Given the description of an element on the screen output the (x, y) to click on. 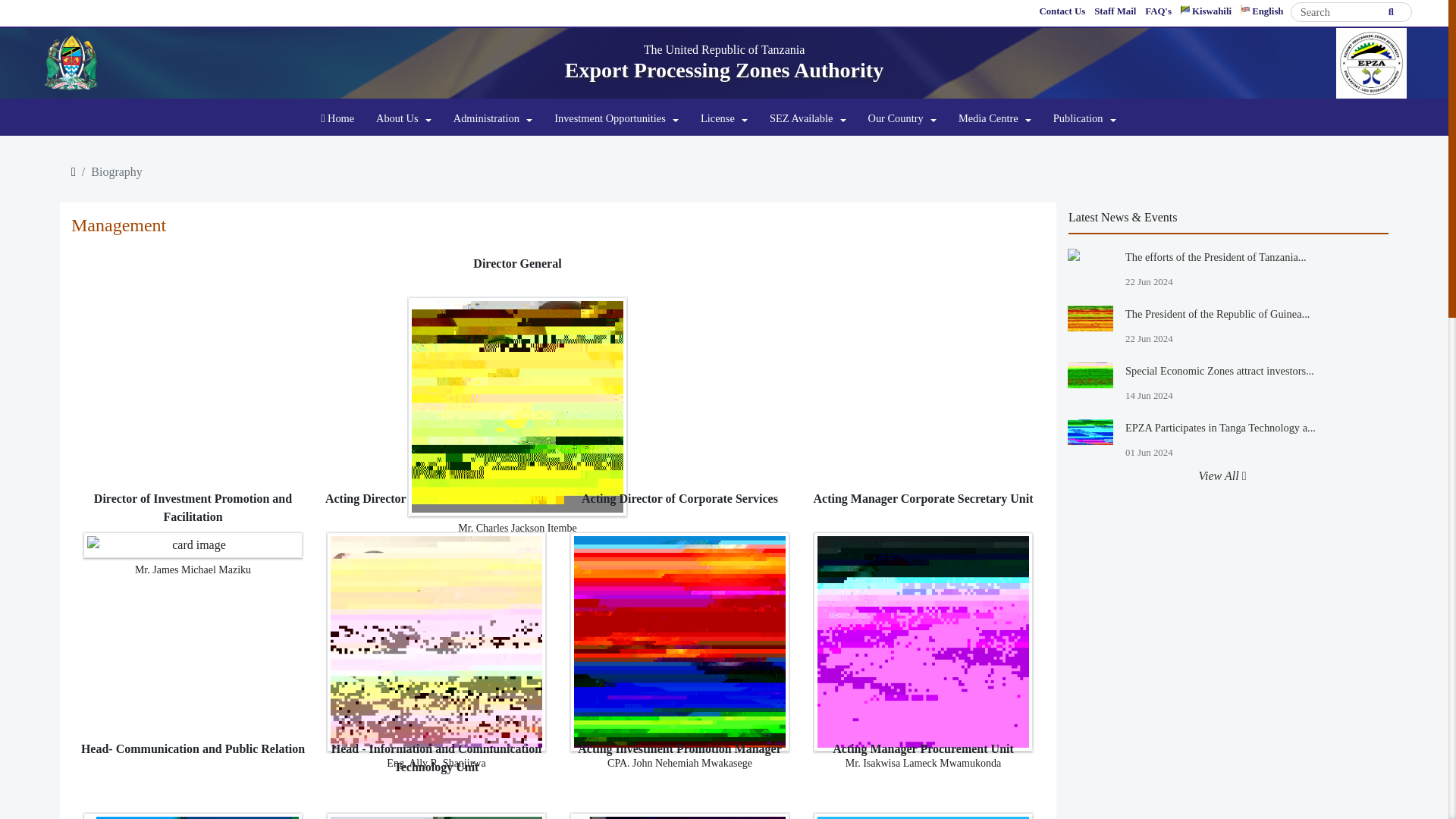
Administration (492, 118)
SEZ Available (806, 118)
Home (336, 118)
English (1261, 11)
License (724, 118)
Switch Language to swahili (1206, 11)
Kiswahili (1206, 11)
Investment Opportunities (616, 118)
About Us (403, 118)
Our Country (901, 118)
Contact Us (1061, 11)
Switch Language to English (1261, 11)
FAQ's (1158, 11)
Staff Mail (1114, 11)
